Given the description of an element on the screen output the (x, y) to click on. 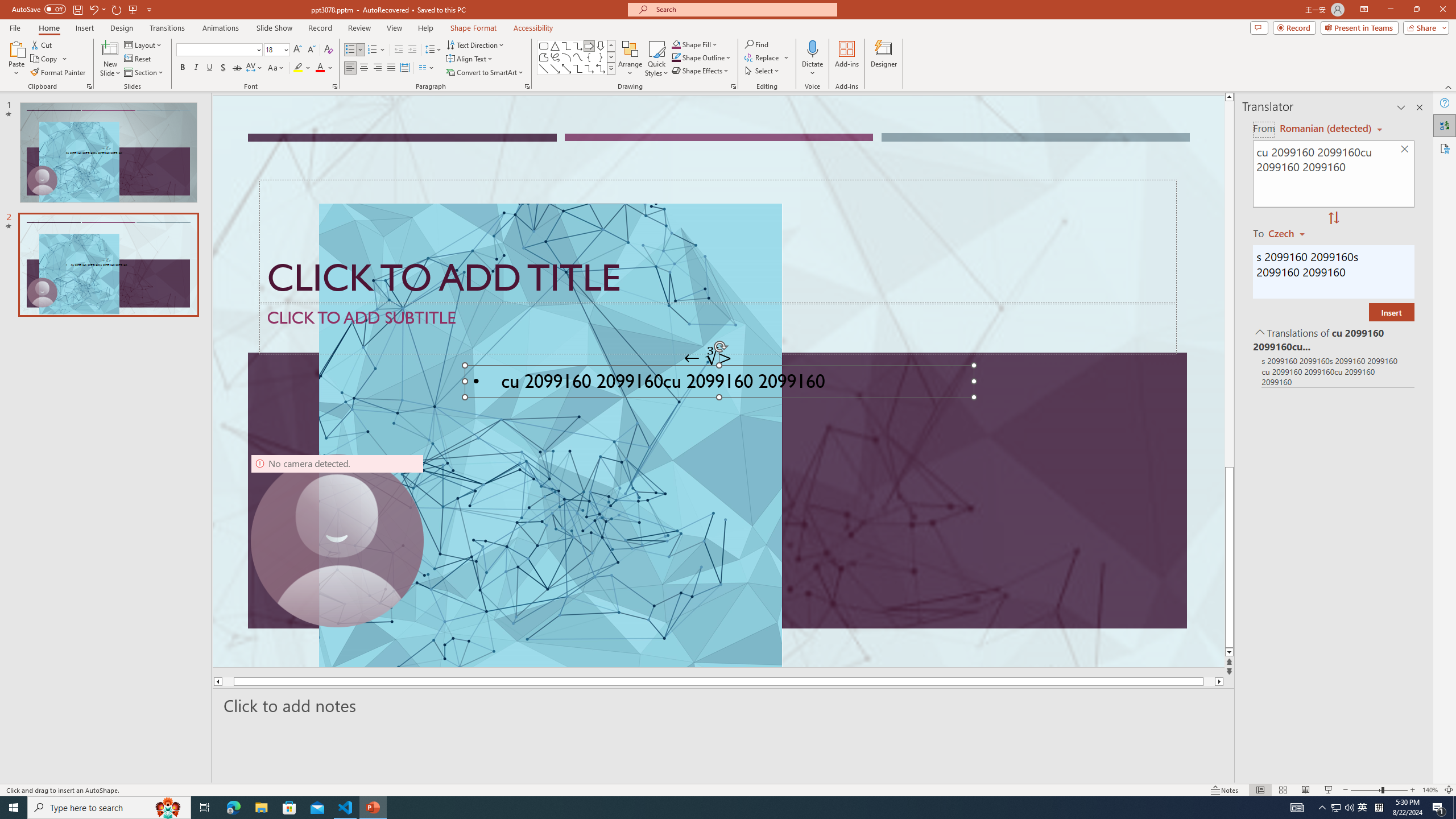
Clear text (1404, 149)
TextBox 7 (708, 357)
Line Arrow: Double (566, 68)
